Given the description of an element on the screen output the (x, y) to click on. 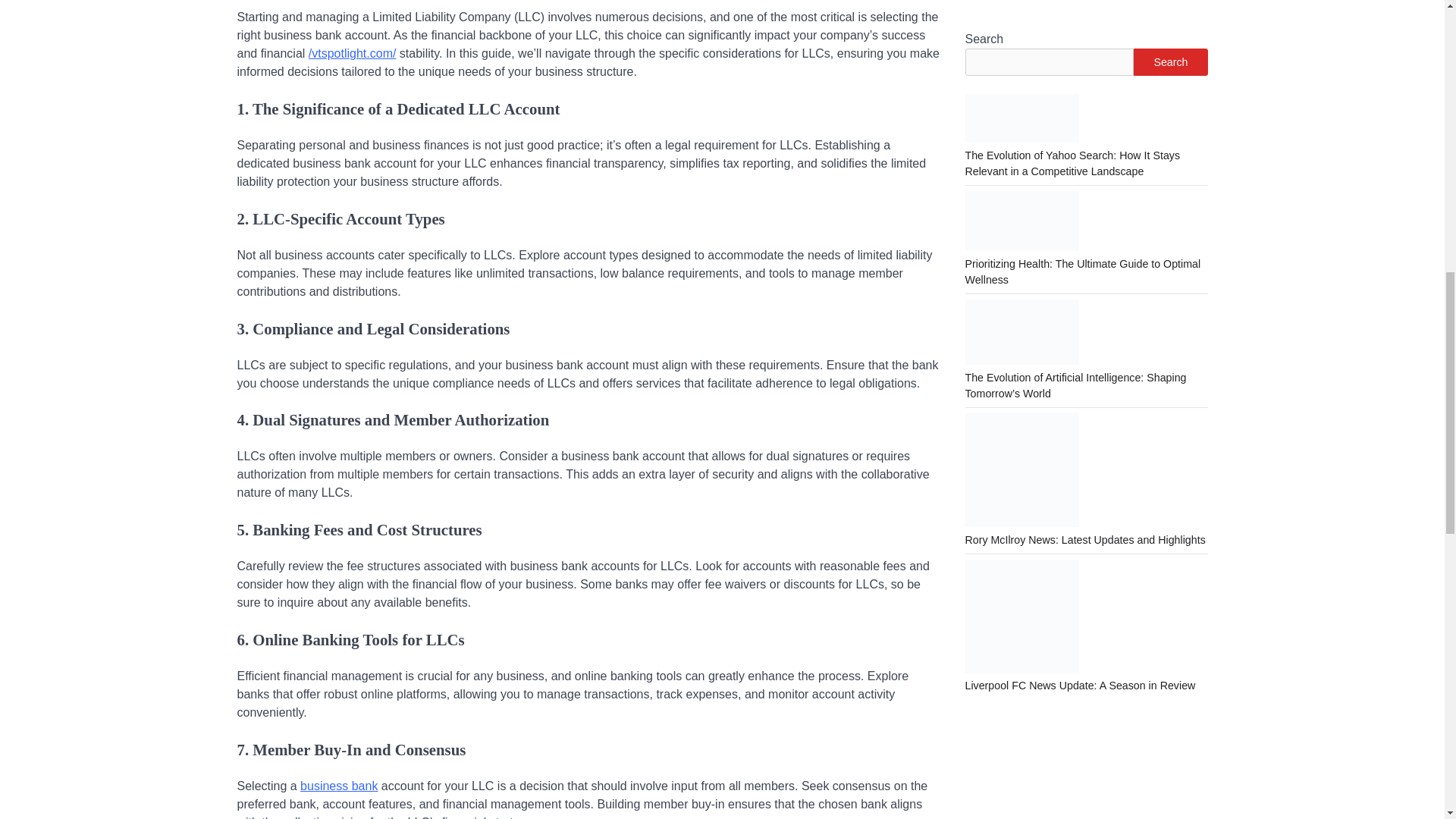
business bank (338, 785)
